Given the description of an element on the screen output the (x, y) to click on. 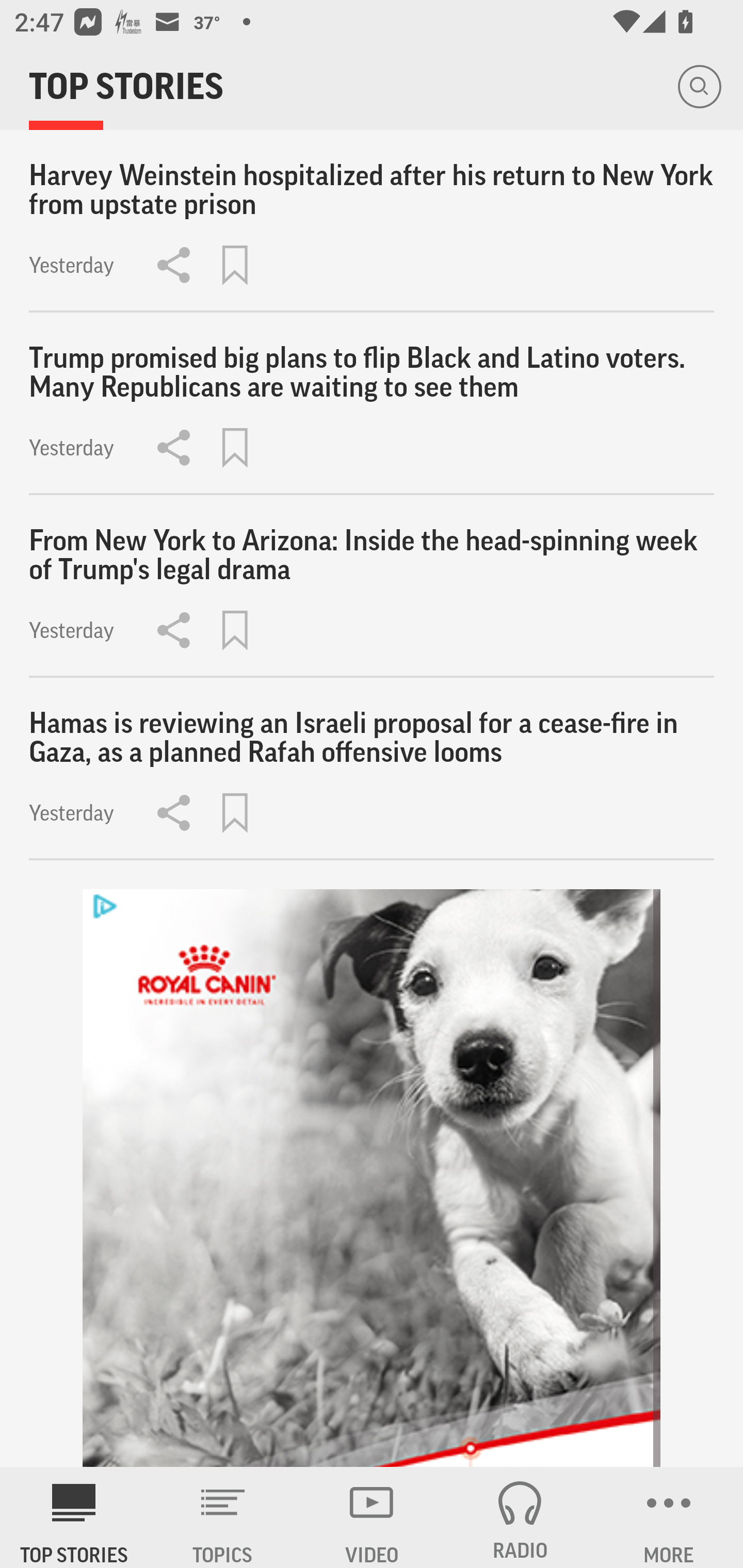
AP News TOP STORIES (74, 1517)
TOPICS (222, 1517)
VIDEO (371, 1517)
RADIO (519, 1517)
MORE (668, 1517)
